Given the description of an element on the screen output the (x, y) to click on. 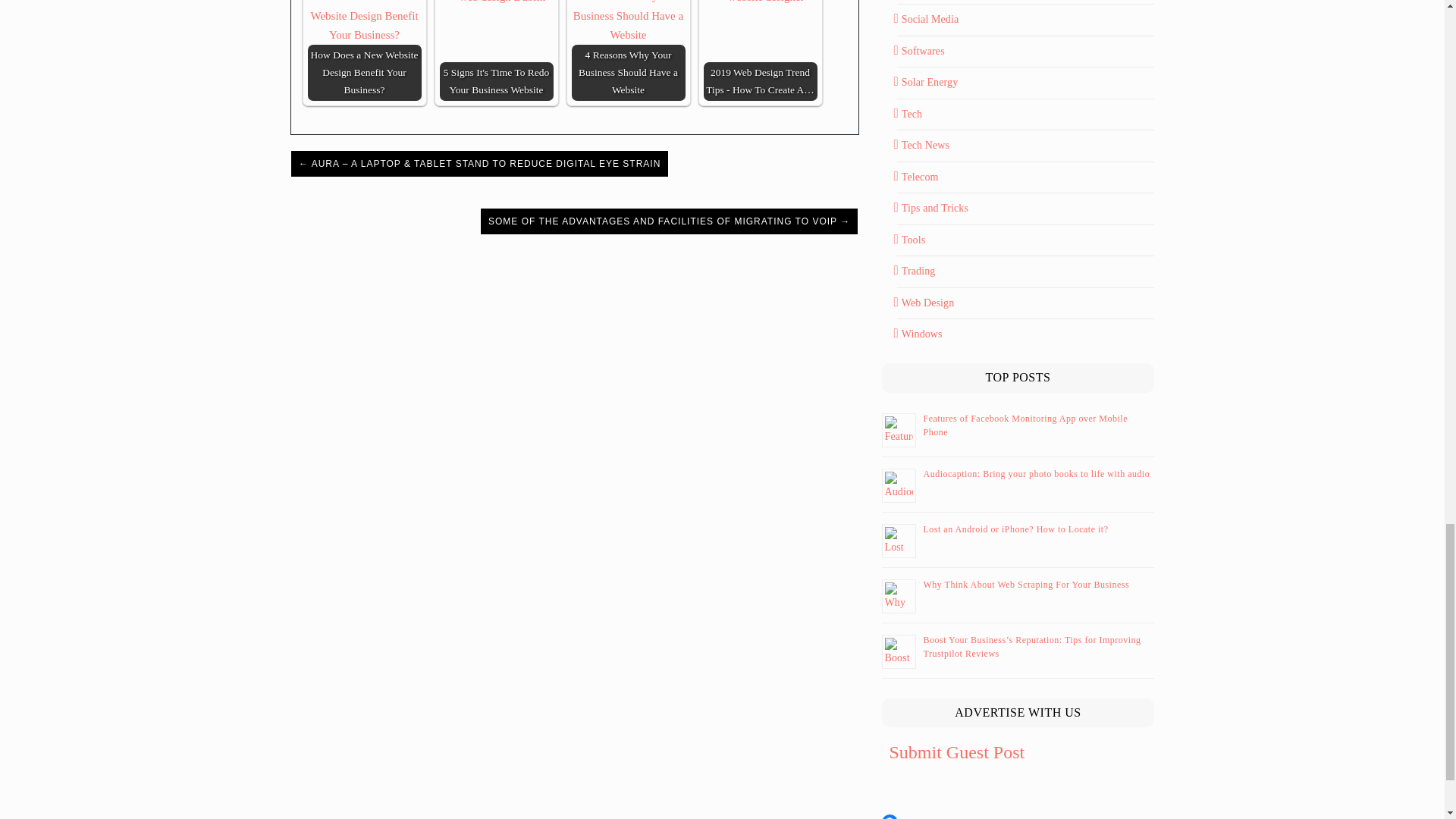
4 Reasons Why Your Business Should Have a Website (628, 22)
How Does a New Website Design Benefit Your Business? (364, 22)
5 Signs It's Time To Redo Your Business Website (495, 3)
